Given the description of an element on the screen output the (x, y) to click on. 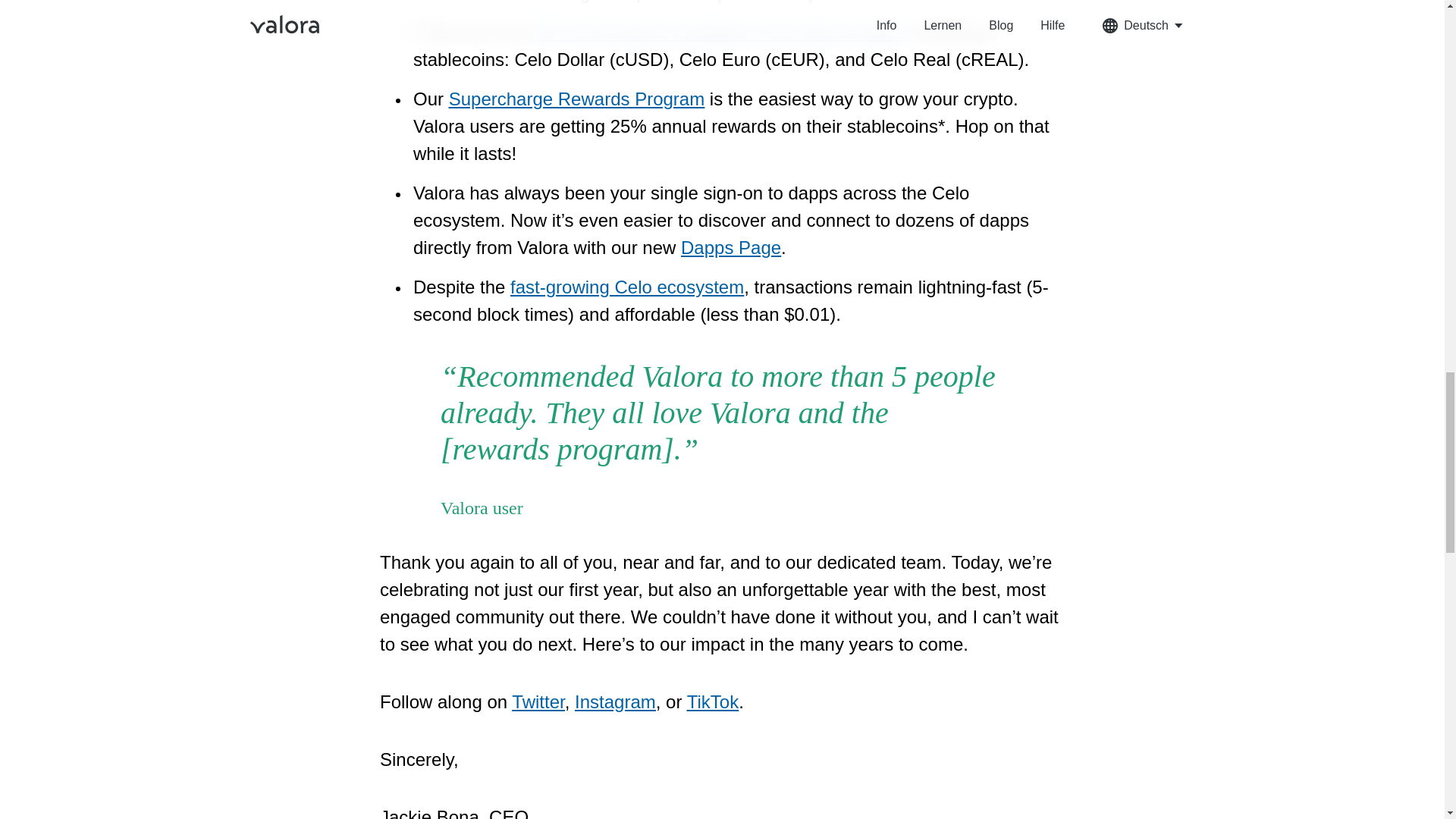
Instagram (615, 701)
Twitter (538, 701)
TikTok (712, 701)
Supercharge Rewards Program (576, 98)
Dapps Page (730, 247)
fast-growing Celo ecosystem (627, 286)
